Given the description of an element on the screen output the (x, y) to click on. 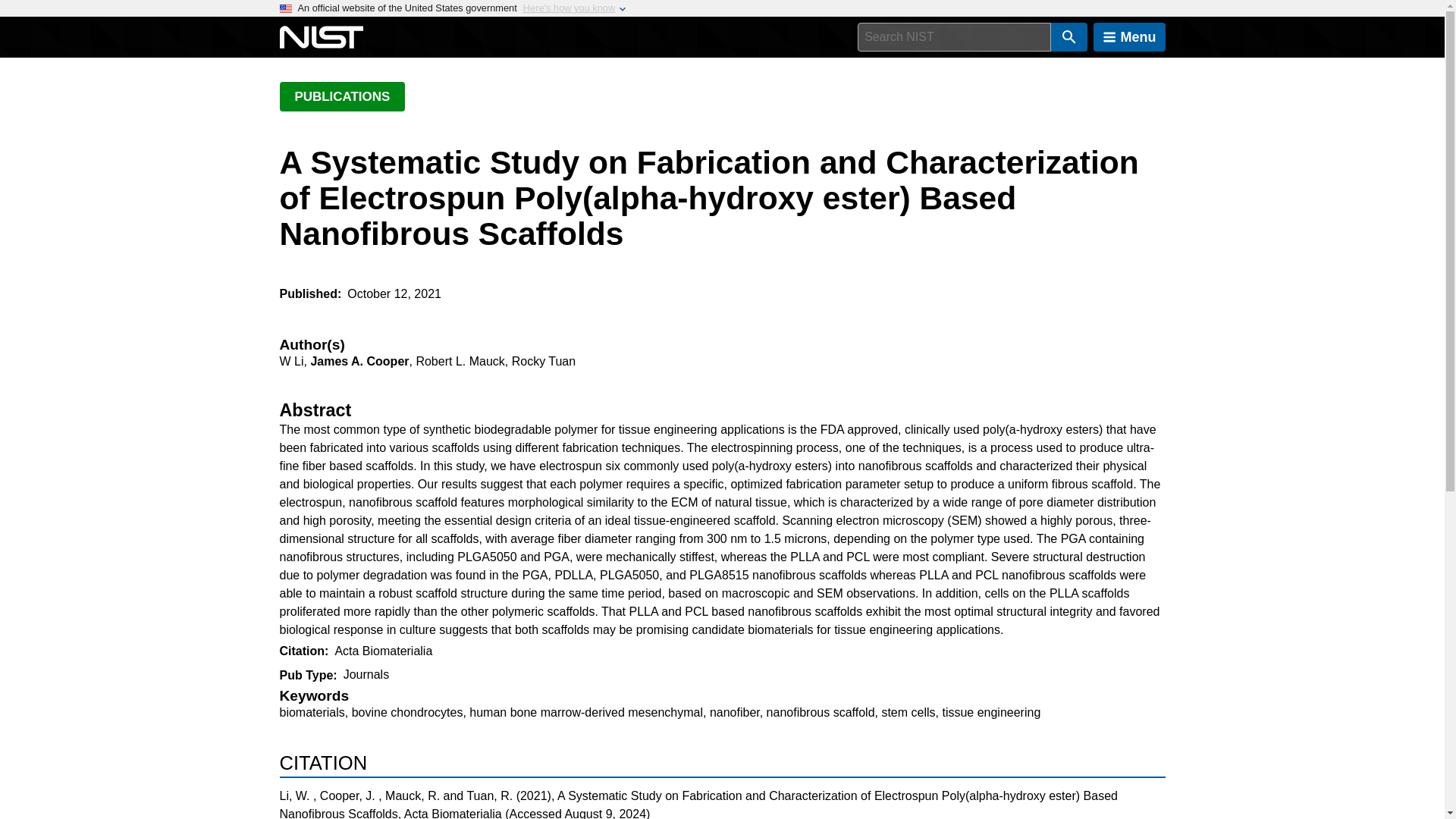
National Institute of Standards and Technology (320, 36)
PUBLICATIONS (341, 96)
Menu (1129, 36)
